Given the description of an element on the screen output the (x, y) to click on. 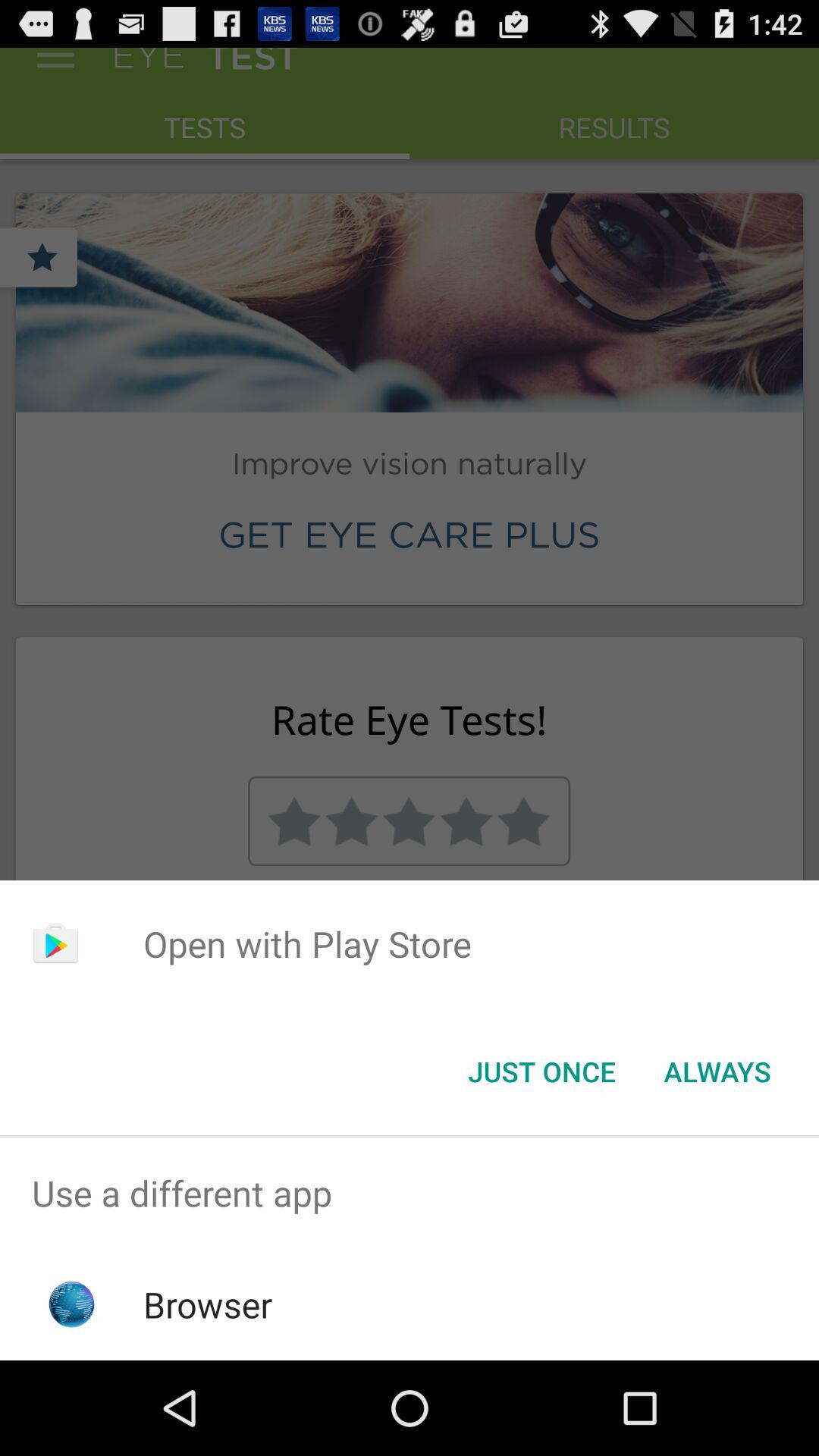
turn off button to the left of always button (541, 1071)
